Given the description of an element on the screen output the (x, y) to click on. 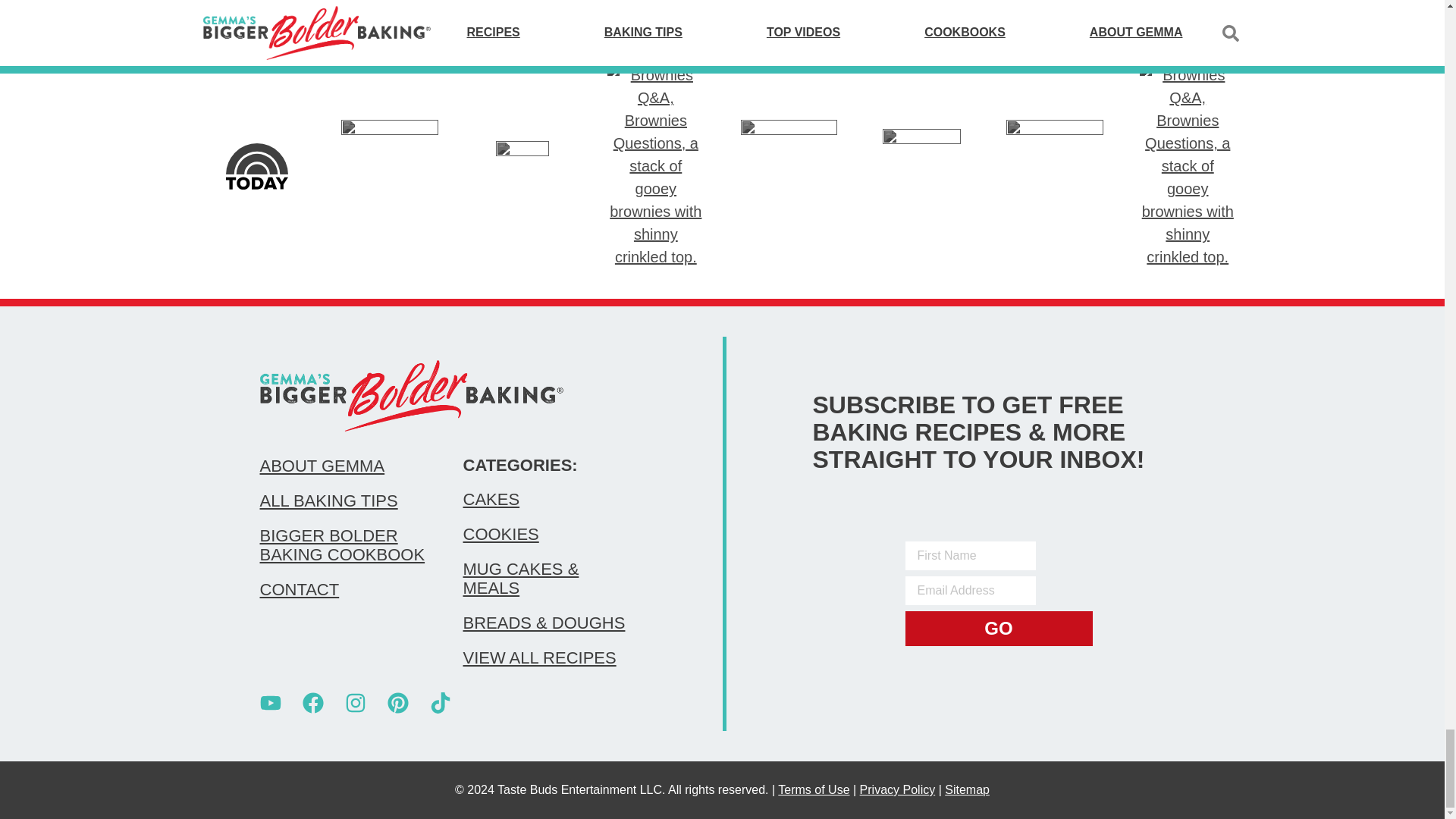
Bigger Bolder Baking Cookbook (345, 545)
About Gemma (345, 466)
All Baking Tips (345, 501)
Contact (345, 589)
